Given the description of an element on the screen output the (x, y) to click on. 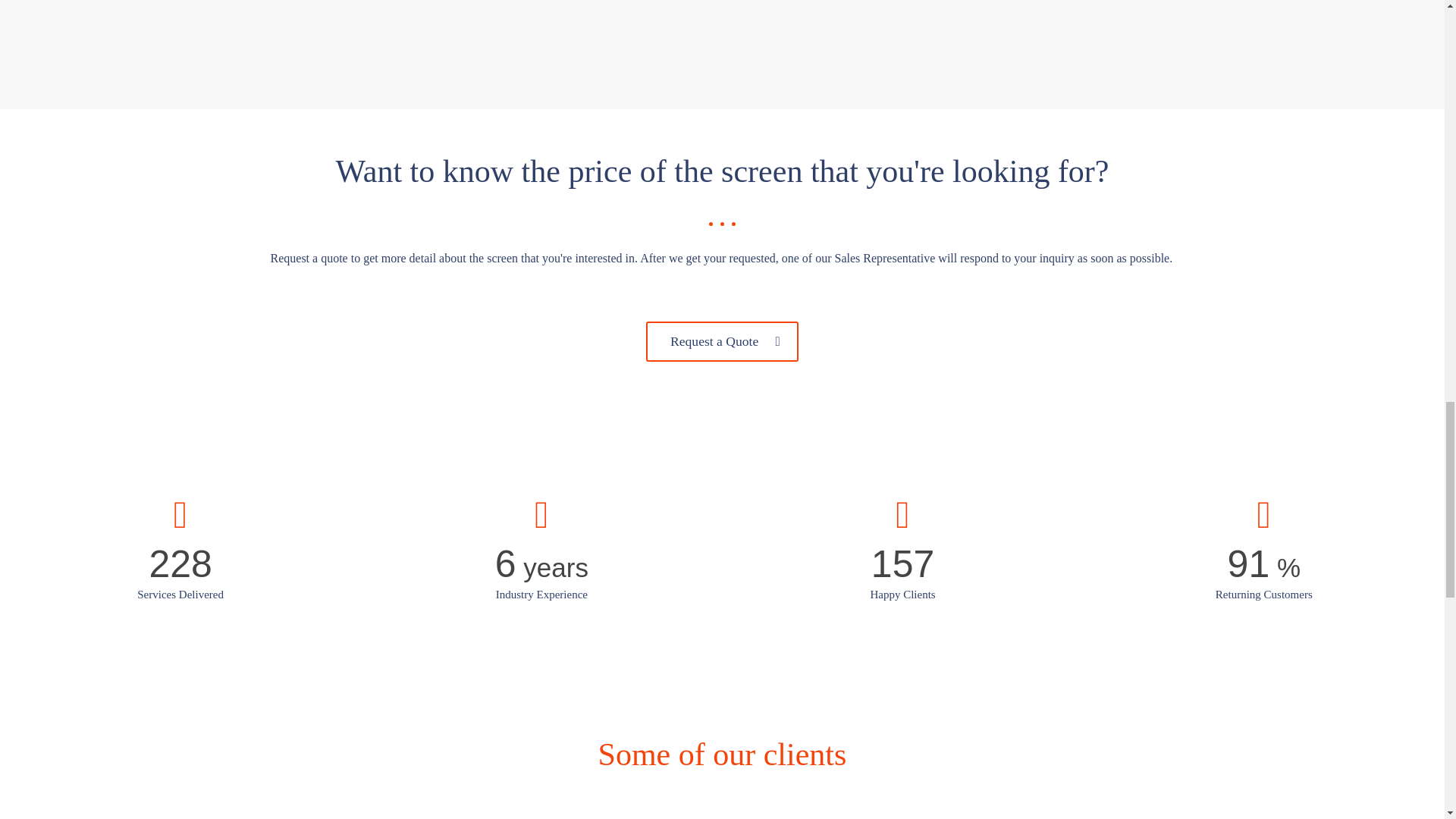
Request a Quote (721, 341)
